Given the description of an element on the screen output the (x, y) to click on. 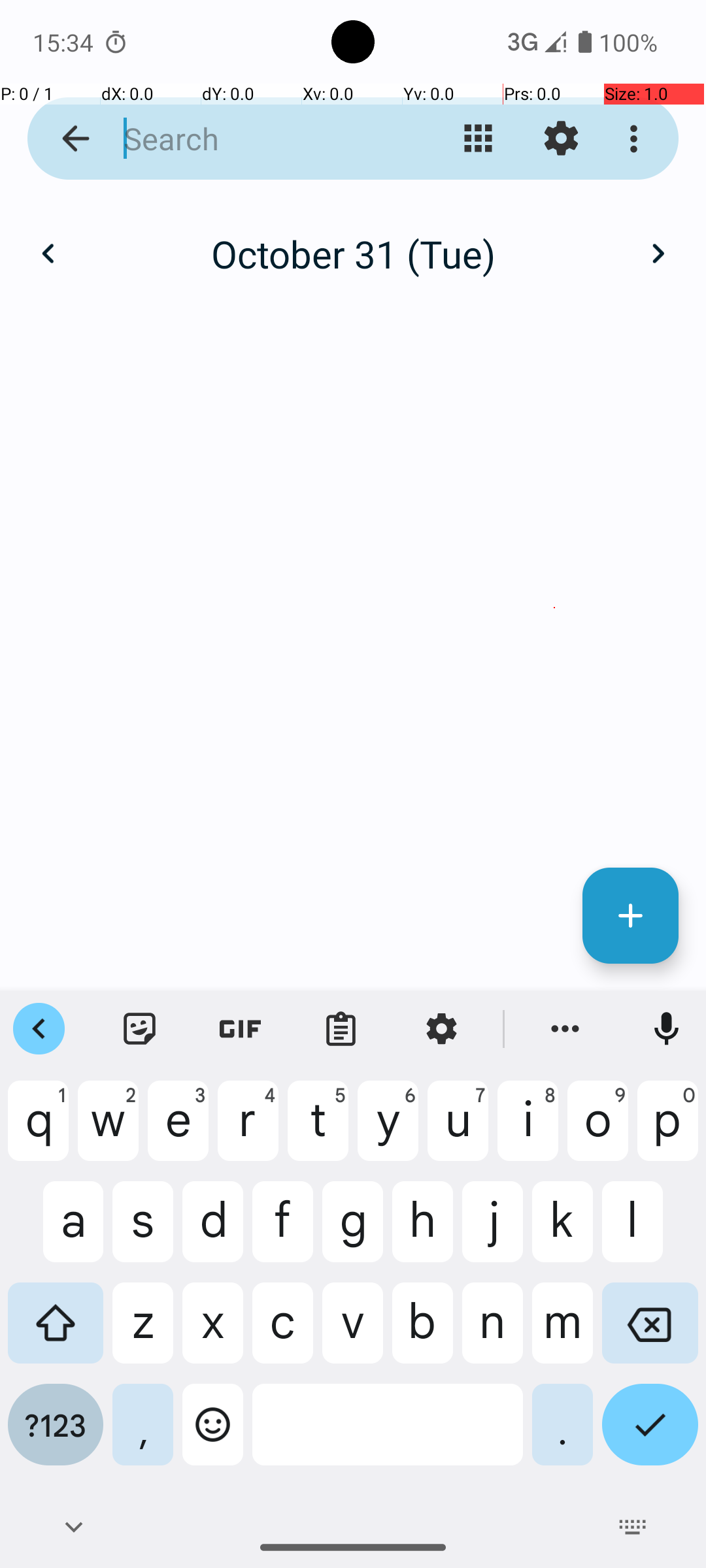
October 31 (Tue) Element type: android.widget.TextView (352, 253)
